Given the description of an element on the screen output the (x, y) to click on. 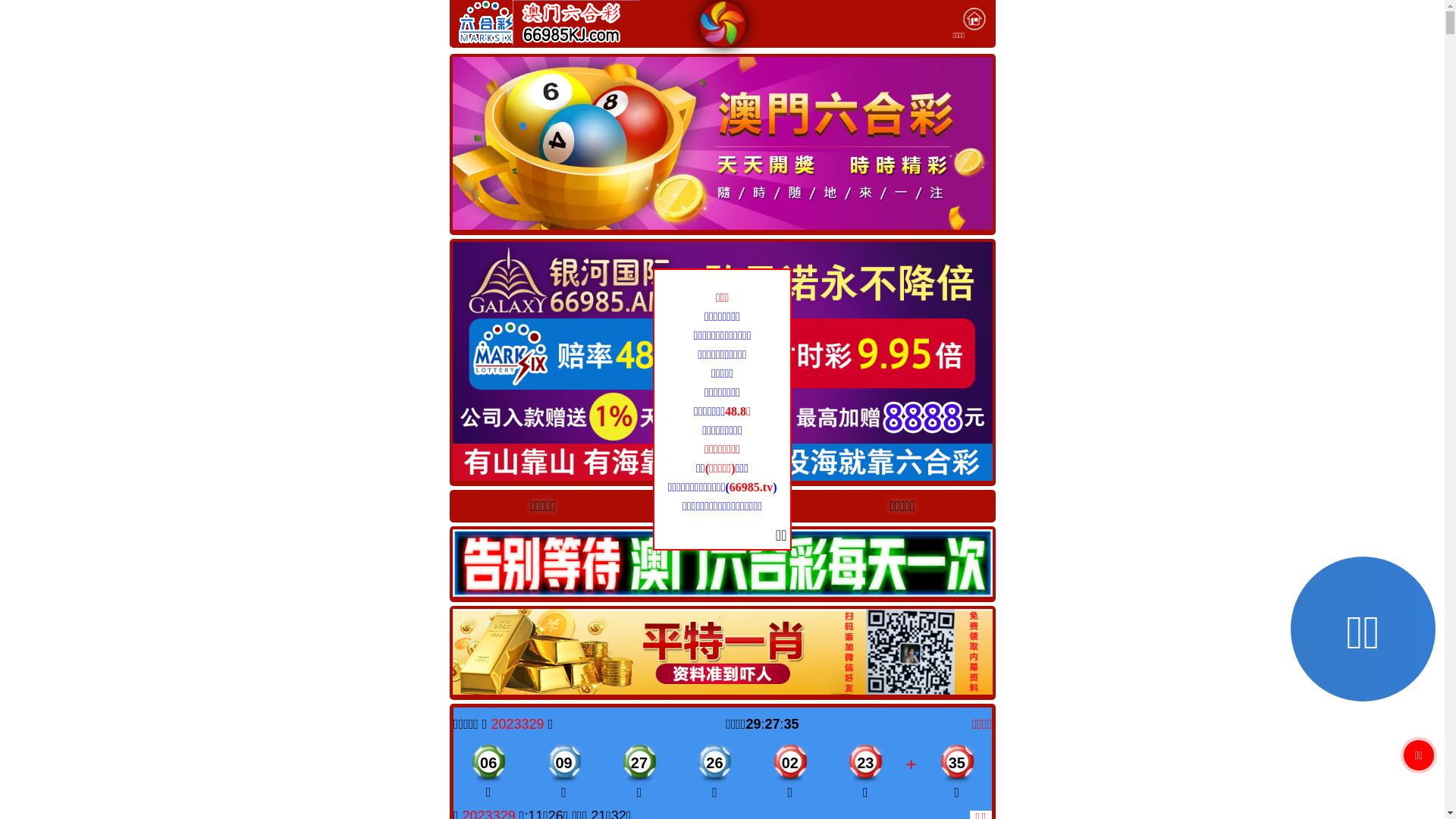
yhgj663.com Element type: text (710, 504)
